Given the description of an element on the screen output the (x, y) to click on. 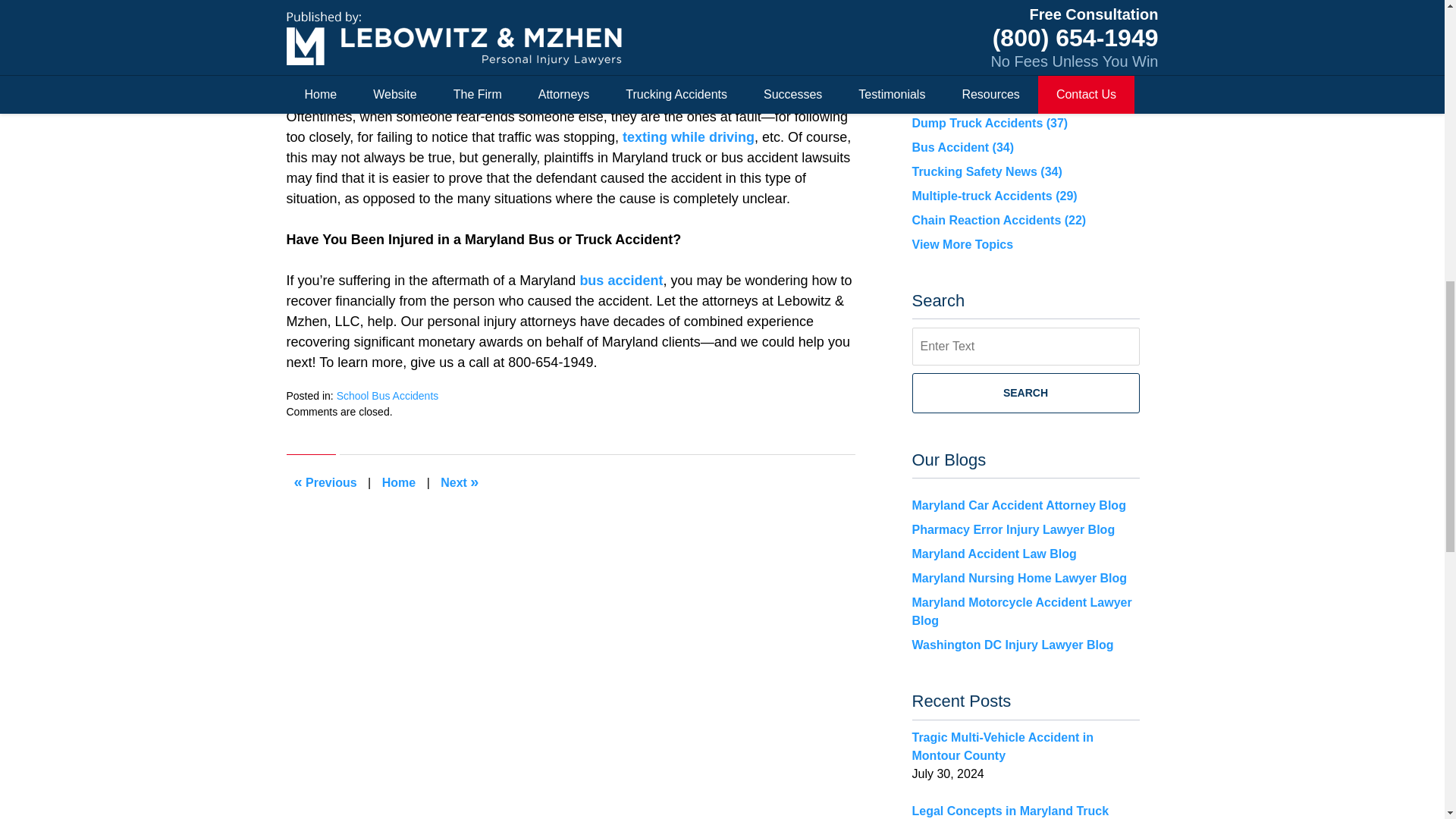
Wintery Weather Can Cause Maryland Truck Accidents (325, 482)
School Bus Accidents (387, 395)
Maryland Truck Accidents Caused By Rental Trucks (459, 482)
bus accident (620, 280)
texting while driving (688, 136)
View all posts in School Bus Accidents (387, 395)
